Given the description of an element on the screen output the (x, y) to click on. 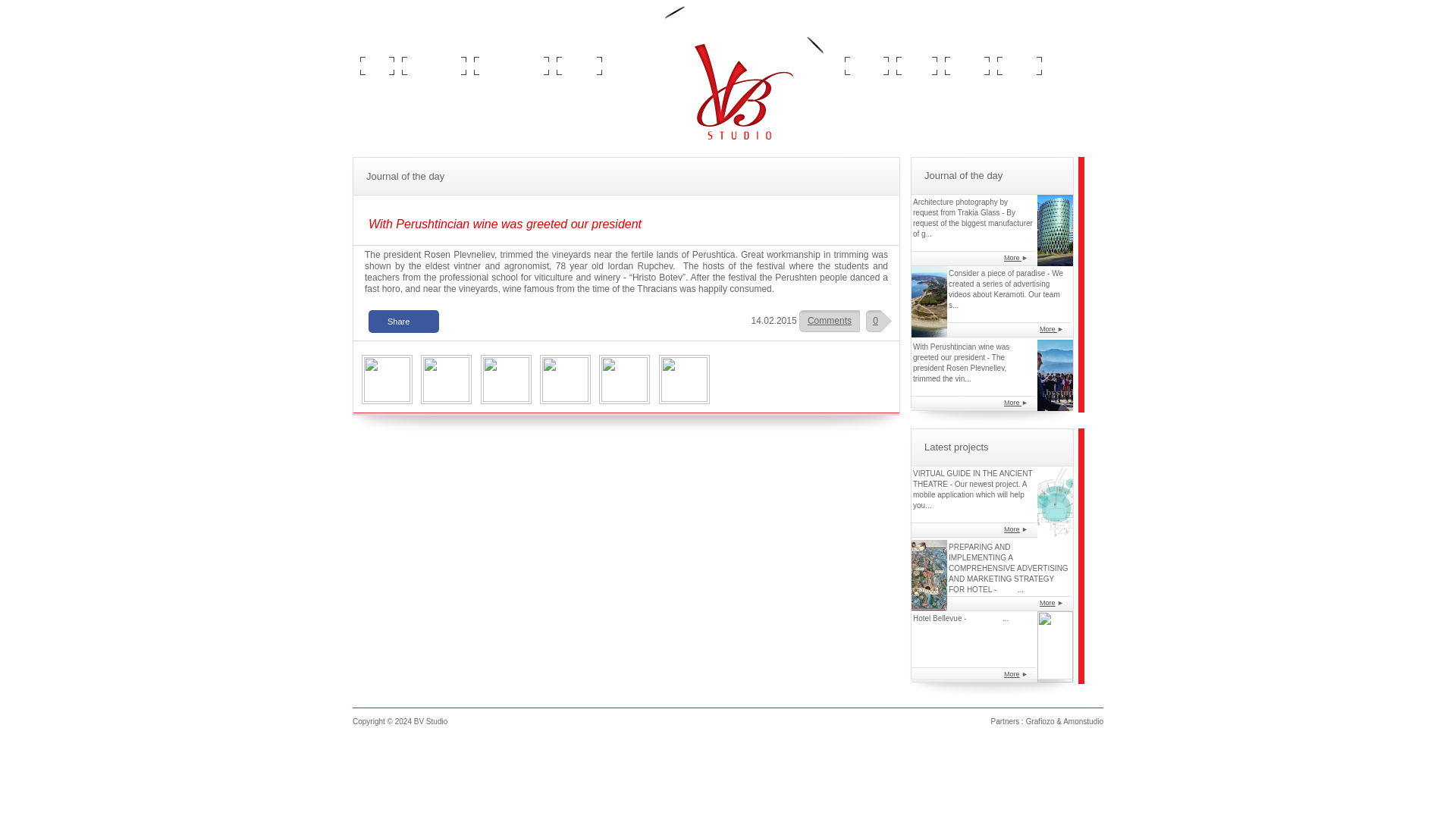
Amonstudio (1082, 721)
More (1048, 328)
Comments (829, 320)
about (376, 65)
With Perushtincian wine was greeted our president (445, 379)
projects (866, 65)
More (1047, 602)
With Perushtincian wine was greeted our president (623, 379)
Latest projects (956, 446)
See Hotel Bellevue (1012, 674)
With Perushtincian wine was greeted our president (565, 379)
With Perushtincian wine was greeted our president (505, 379)
services (578, 65)
partners (966, 65)
